Given the description of an element on the screen output the (x, y) to click on. 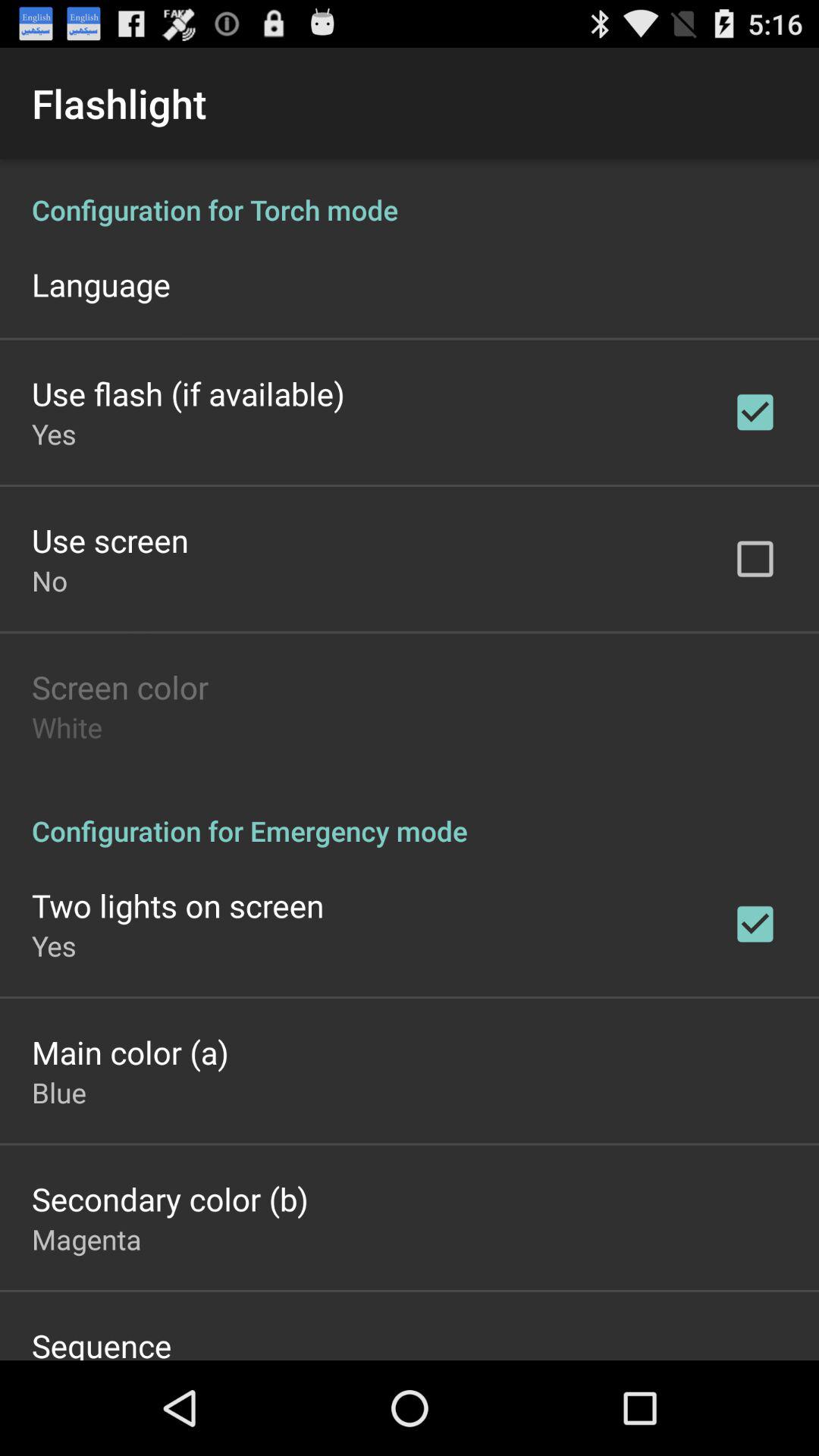
swipe to the sequence icon (101, 1342)
